Given the description of an element on the screen output the (x, y) to click on. 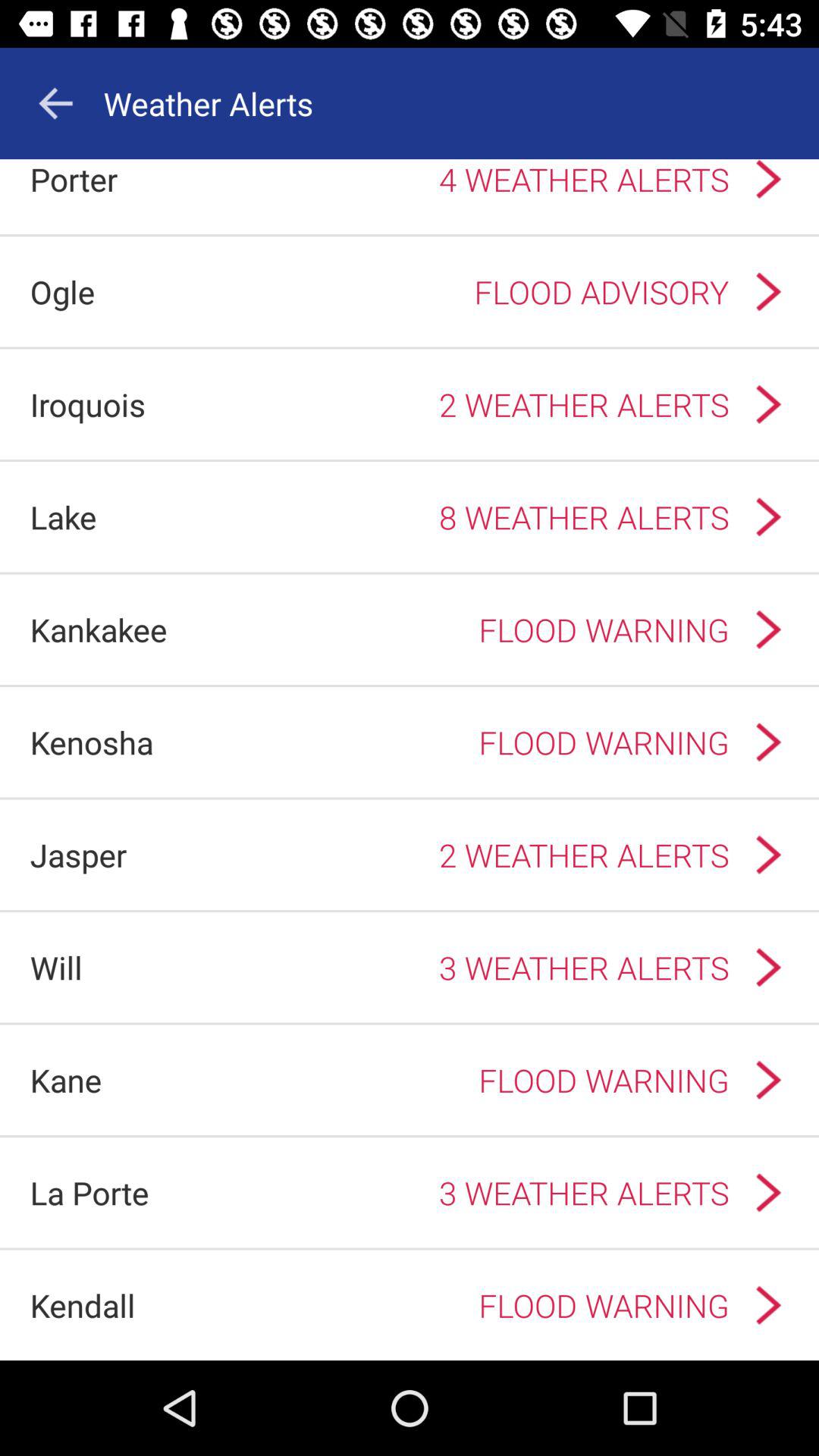
turn off the app to the left of weather alerts icon (55, 103)
